Given the description of an element on the screen output the (x, y) to click on. 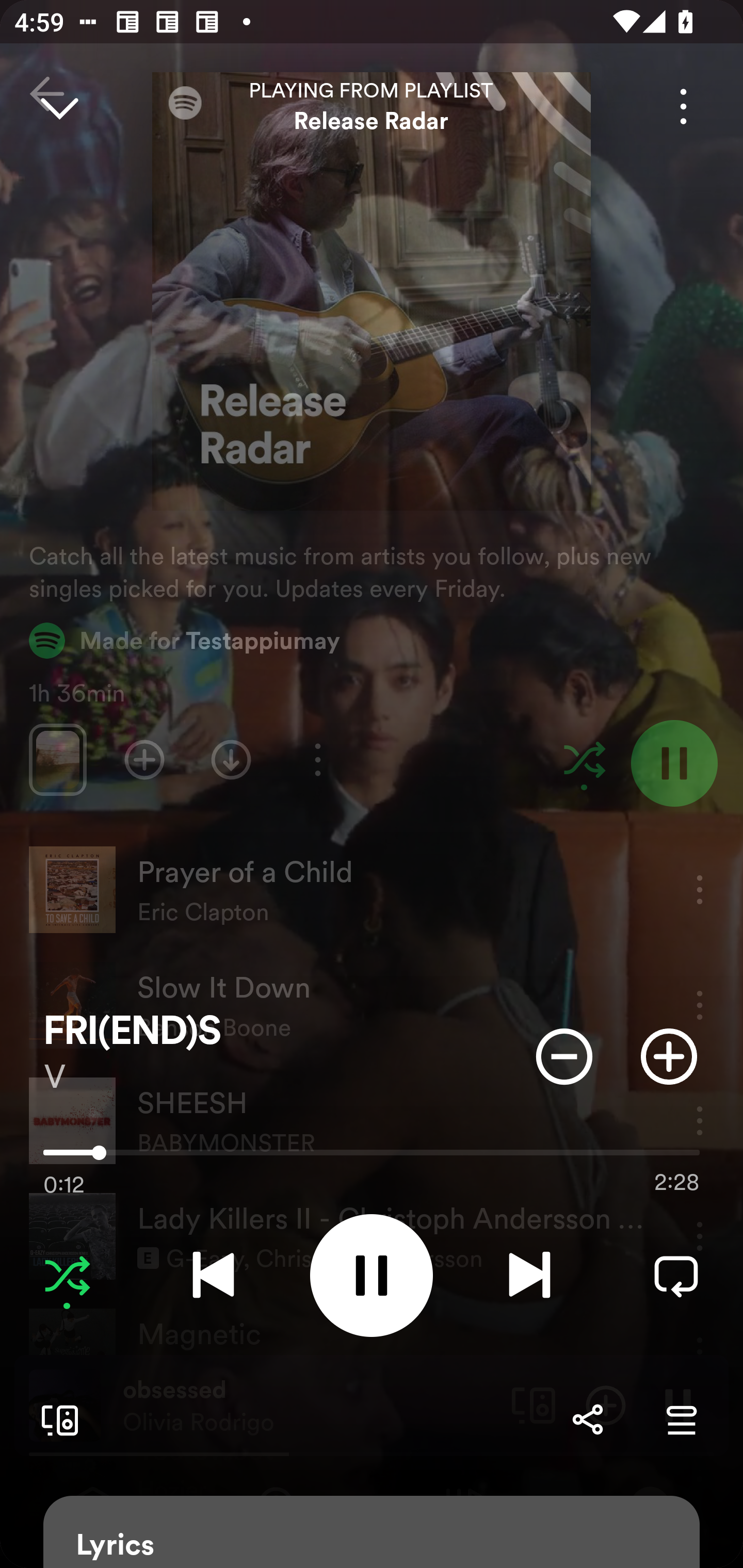
Close (59, 106)
More options for song FRI(END)S (683, 106)
PLAYING FROM PLAYLIST Release Radar (371, 106)
Don't play this (564, 1056)
Add item (669, 1056)
0:12 2:28 12306.0 Use volume keys to adjust (371, 1157)
Pause (371, 1275)
Previous (212, 1275)
Next (529, 1275)
Stop shuffling tracks (66, 1275)
Repeat (676, 1275)
Share (587, 1419)
Go to Queue (681, 1419)
Connect to a device. Opens the devices menu (55, 1419)
Lyrics (371, 1531)
